Given the description of an element on the screen output the (x, y) to click on. 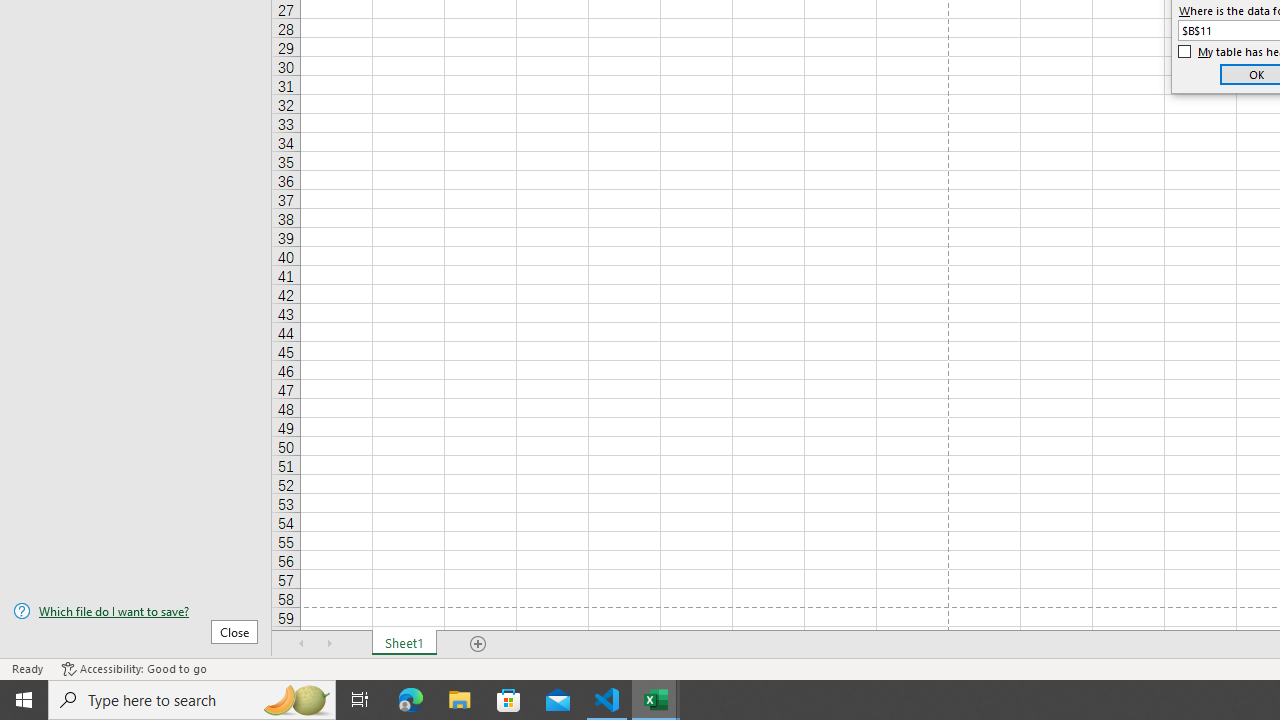
Which file do I want to save? (136, 611)
Scroll Right (330, 644)
Add Sheet (478, 644)
Sheet1 (404, 644)
Scroll Left (302, 644)
Accessibility Checker Accessibility: Good to go (134, 668)
